Given the description of an element on the screen output the (x, y) to click on. 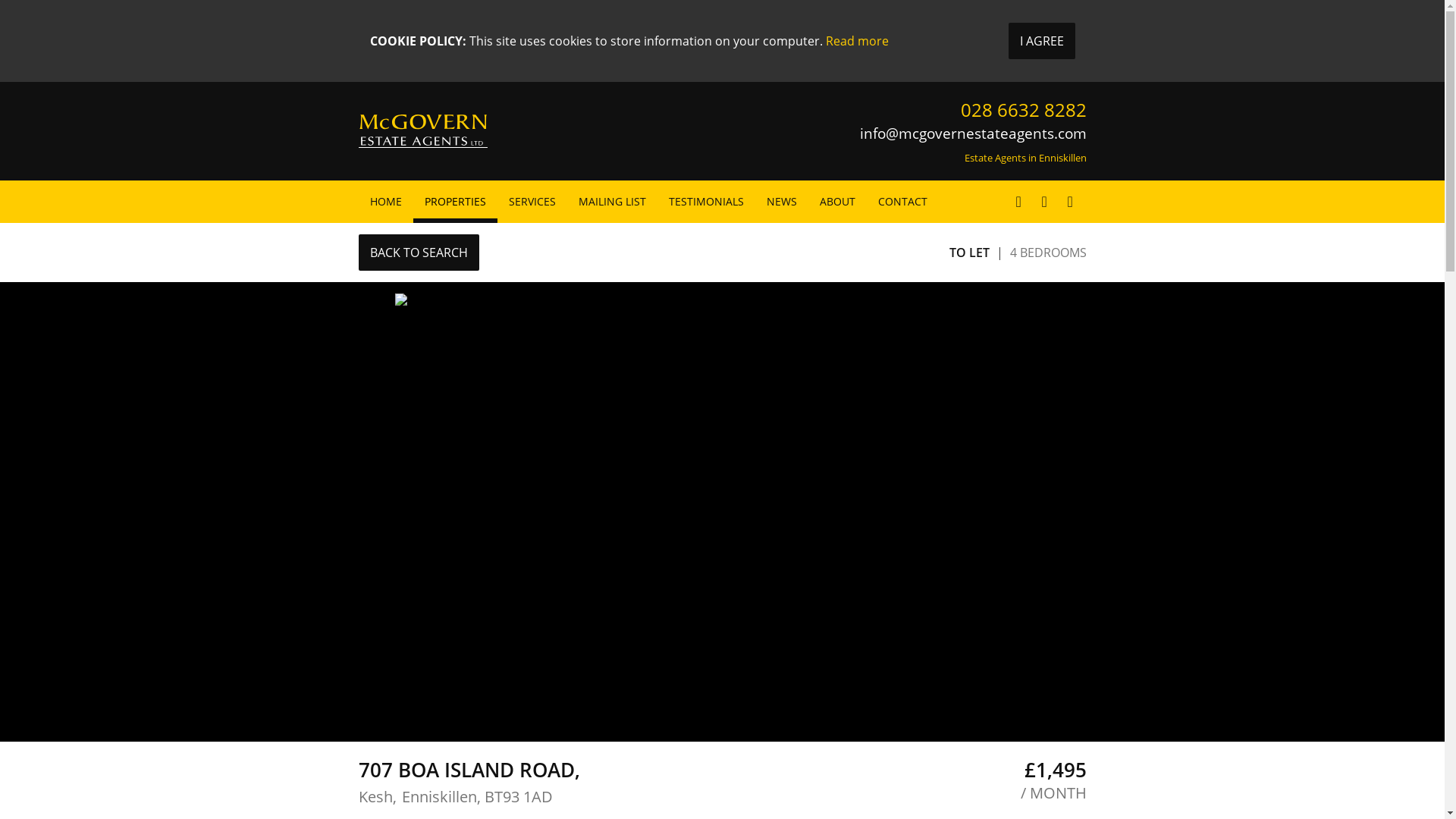
CONTACT (901, 201)
MAILING LIST (612, 201)
028 6632 8282 (1022, 109)
NEWS (781, 201)
Read more (856, 40)
I AGREE (1042, 40)
PROPERTIES (454, 201)
TESTIMONIALS (705, 201)
ABOUT (837, 201)
HOME (385, 201)
SERVICES (532, 201)
